Given the description of an element on the screen output the (x, y) to click on. 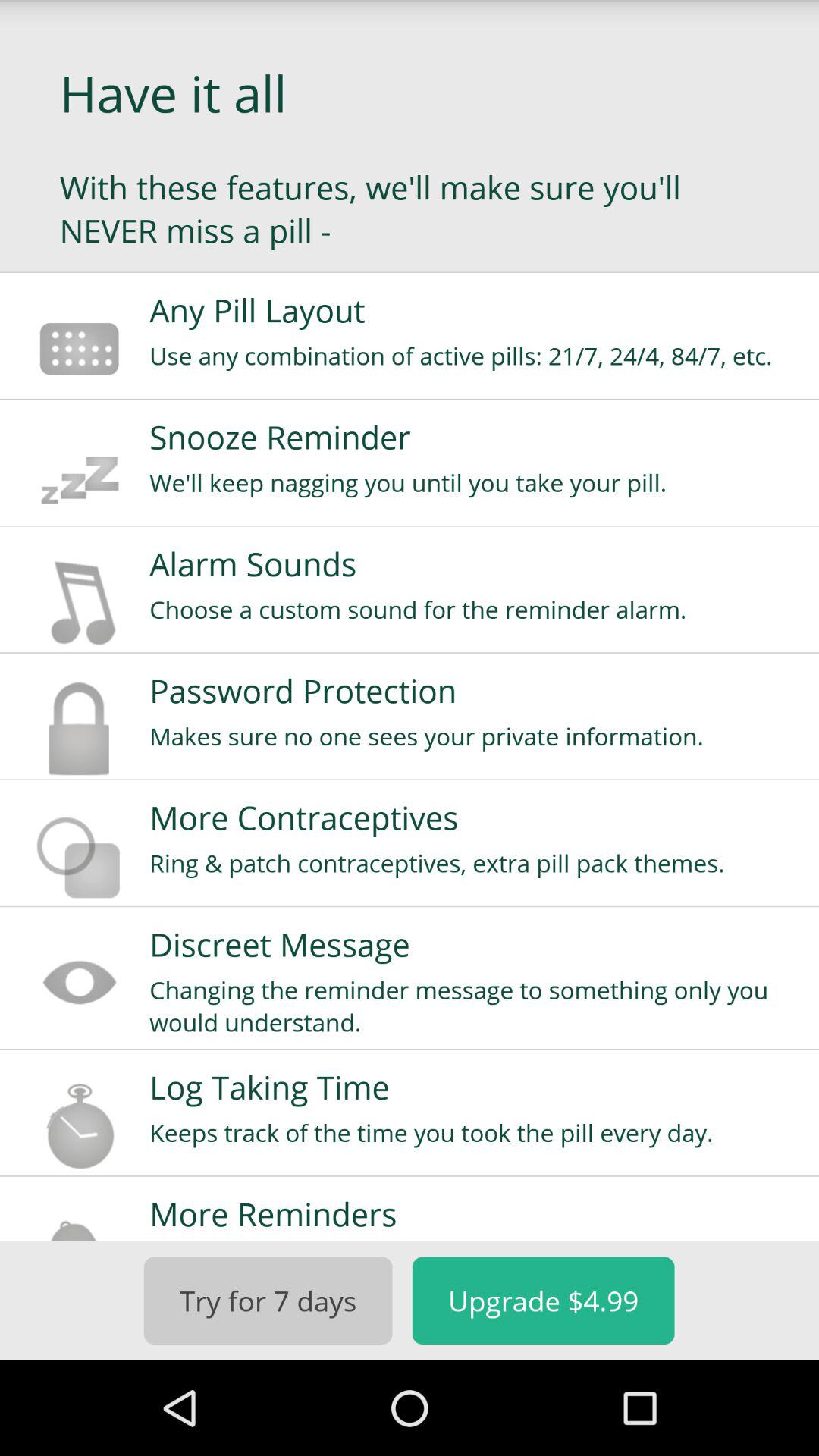
tap alarm sounds icon (474, 563)
